Given the description of an element on the screen output the (x, y) to click on. 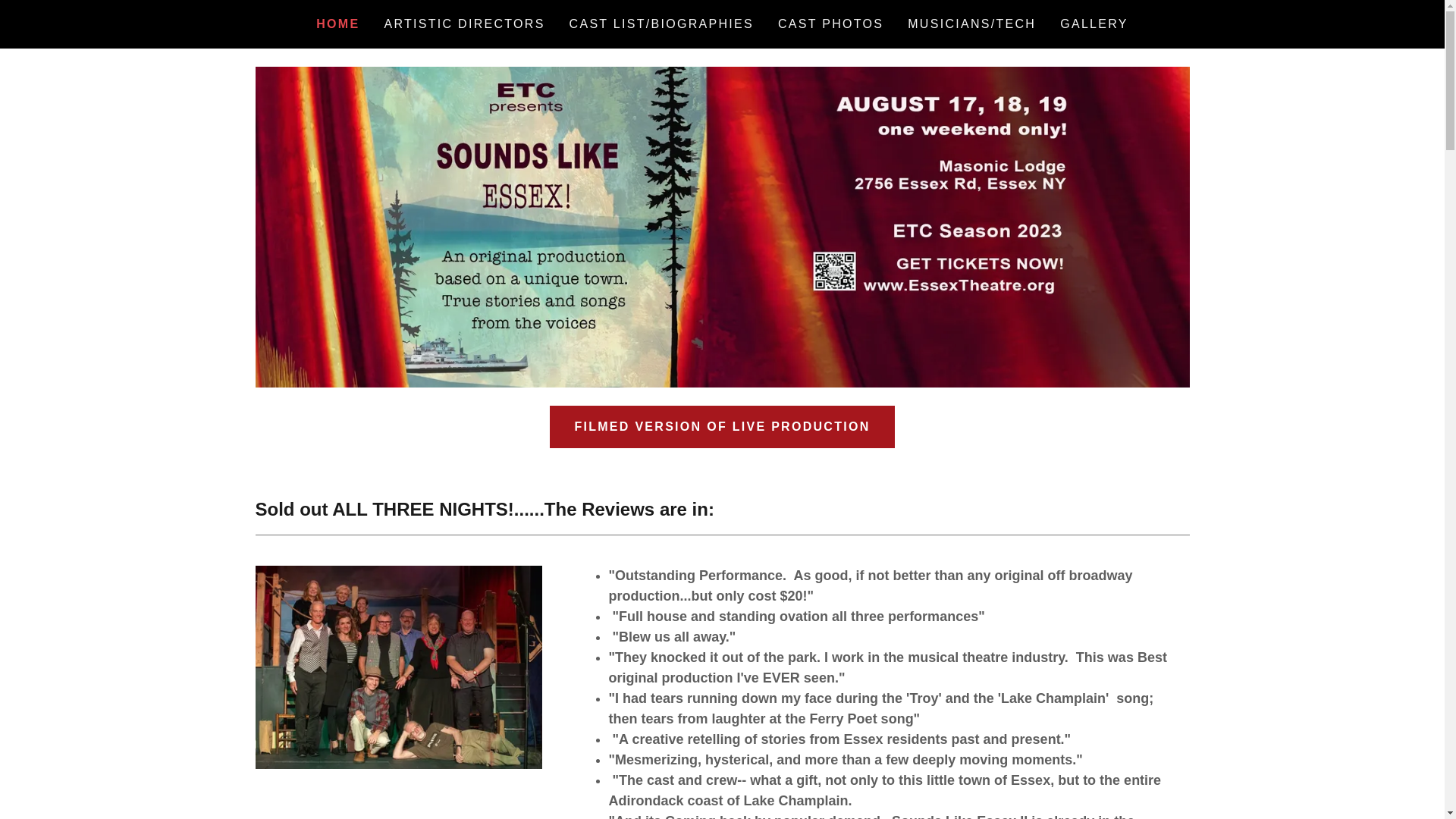
HOME (337, 24)
FILMED VERSION OF LIVE PRODUCTION (721, 426)
GALLERY (1093, 23)
ARTISTIC DIRECTORS (463, 23)
CAST PHOTOS (830, 23)
